Given the description of an element on the screen output the (x, y) to click on. 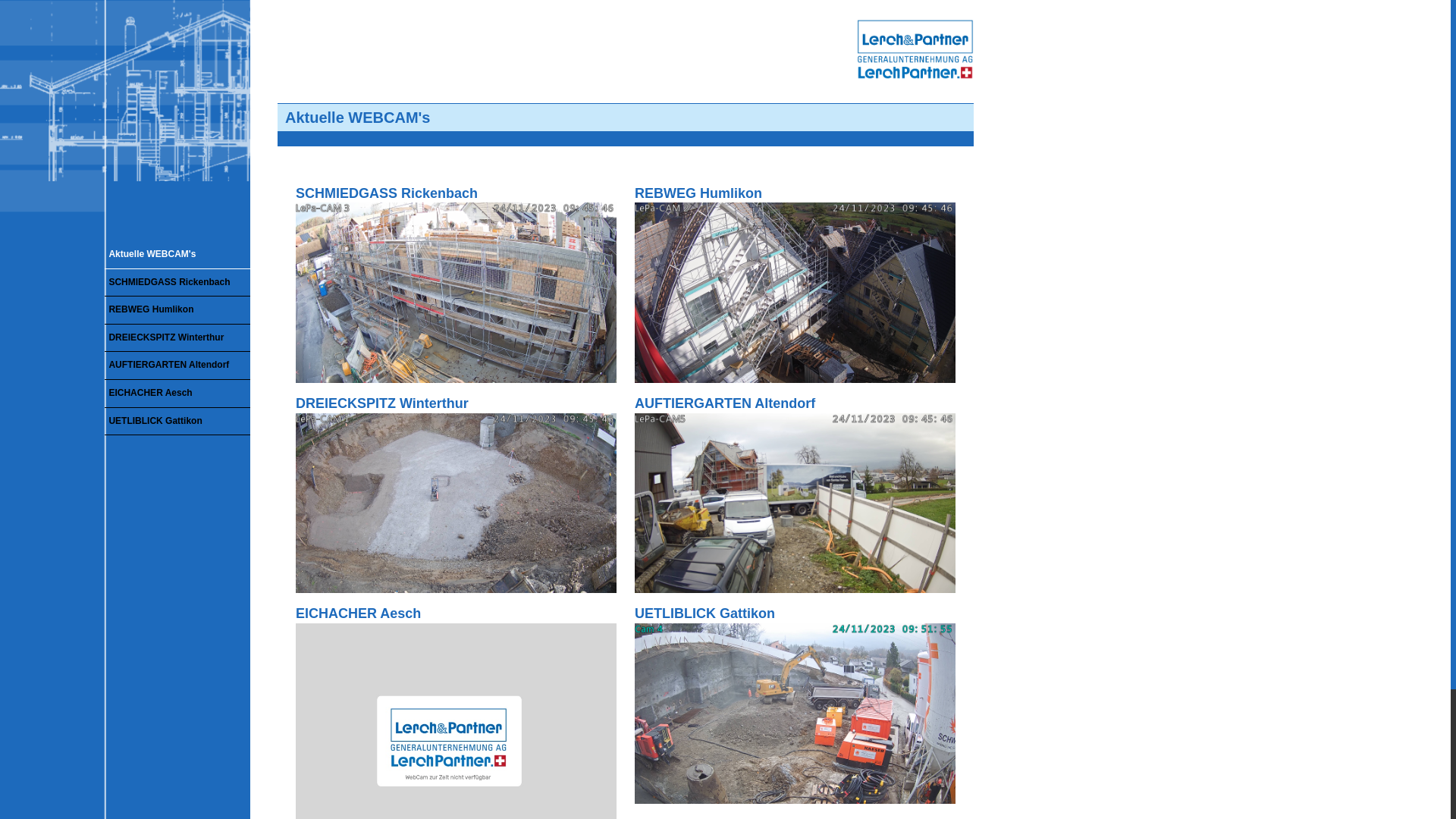
AUFTIERGARTEN Altendorf Element type: hover (794, 503)
Aktuelle WEBCAM's Element type: text (177, 255)
REBWEG Humlikon Element type: hover (794, 292)
EICHACHER Aesch Element type: text (177, 393)
SCHMIEDGASS Rickenbach Element type: text (177, 283)
UETLIBLICK Gattikon Element type: hover (794, 713)
AUFTIERGARTEN Altendorf Element type: text (794, 494)
REBWEG Humlikon Element type: text (794, 283)
AUFTIERGARTEN Altendorf Element type: text (177, 365)
UETLIBLICK Gattikon Element type: text (177, 421)
DREIECKSPITZ Winterthur Element type: text (177, 338)
UETLIBLICK Gattikon Element type: text (794, 704)
DREIECKSPITZ Winterthur Element type: hover (455, 503)
DREIECKSPITZ Winterthur Element type: text (455, 494)
SCHMIEDGASS Rickenbach Element type: hover (455, 292)
Logo Element type: hover (914, 48)
SCHMIEDGASS Rickenbach Element type: text (455, 283)
REBWEG Humlikon Element type: text (177, 310)
